Given the description of an element on the screen output the (x, y) to click on. 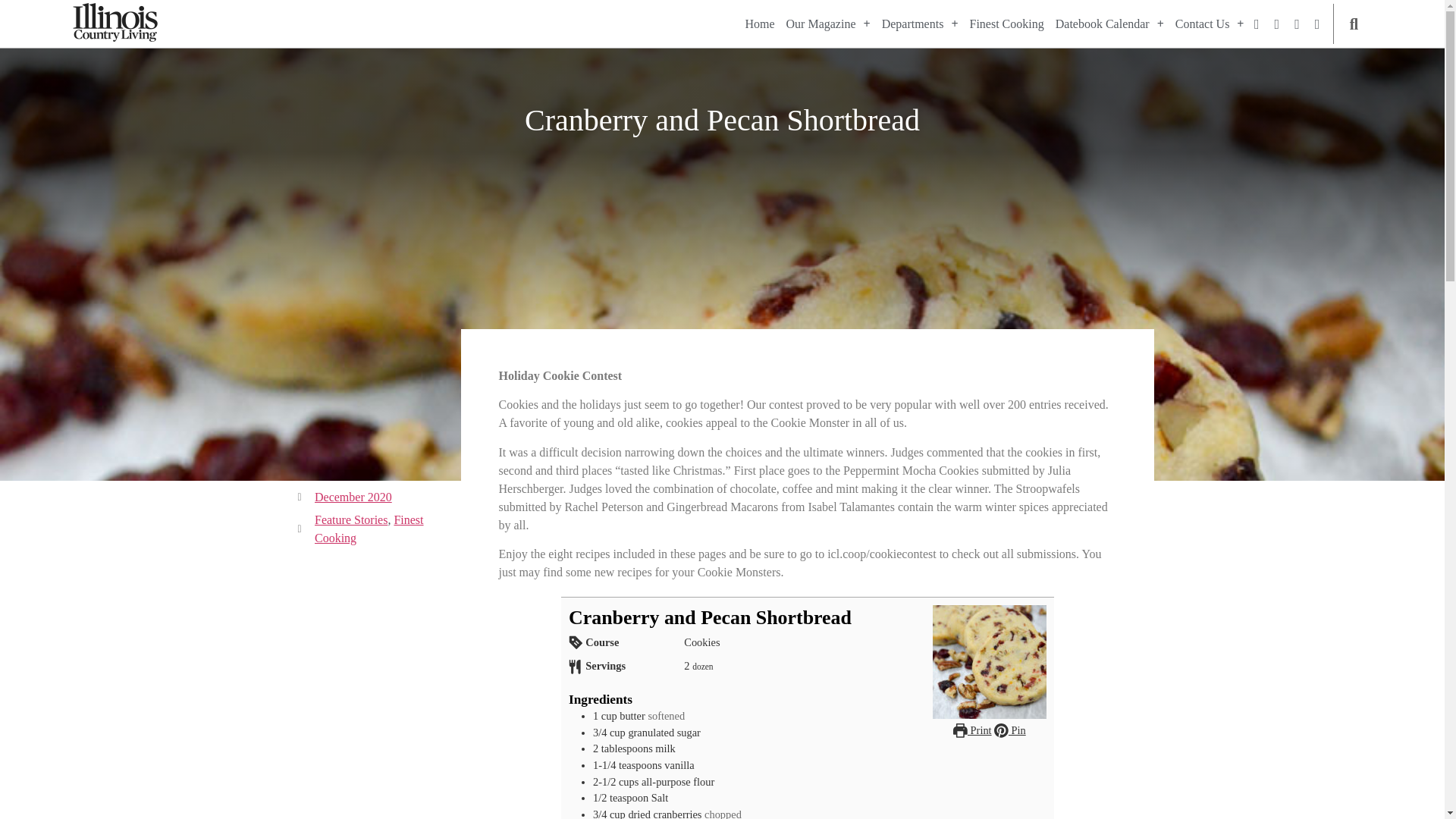
Finest Cooking (1005, 24)
Our Magazine (828, 24)
ICL-logo-blk (114, 22)
Datebook Calendar (1110, 24)
Home (758, 24)
Contact Us (1209, 24)
Departments (919, 24)
